Given the description of an element on the screen output the (x, y) to click on. 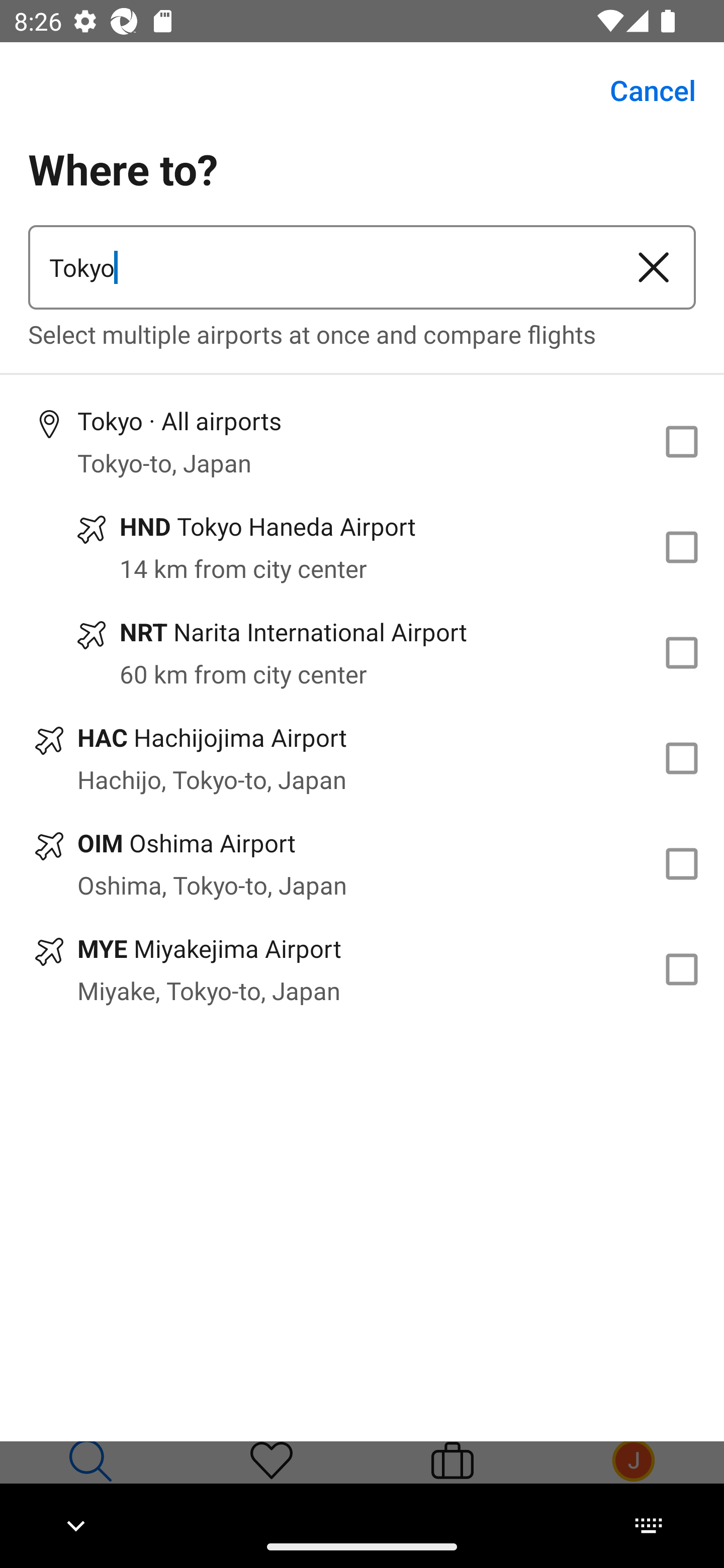
Cancel (641, 90)
Tokyo (319, 266)
Clear airport or city (653, 266)
Tokyo · All airports Tokyo-to, Japan (362, 440)
HND Tokyo Haneda Airport 14 km from city center (362, 547)
HAC Hachijojima Airport Hachijo, Tokyo-to, Japan (362, 757)
OIM Oshima Airport Oshima, Tokyo-to, Japan (362, 863)
MYE Miyakejima Airport Miyake, Tokyo-to, Japan (362, 969)
